Given the description of an element on the screen output the (x, y) to click on. 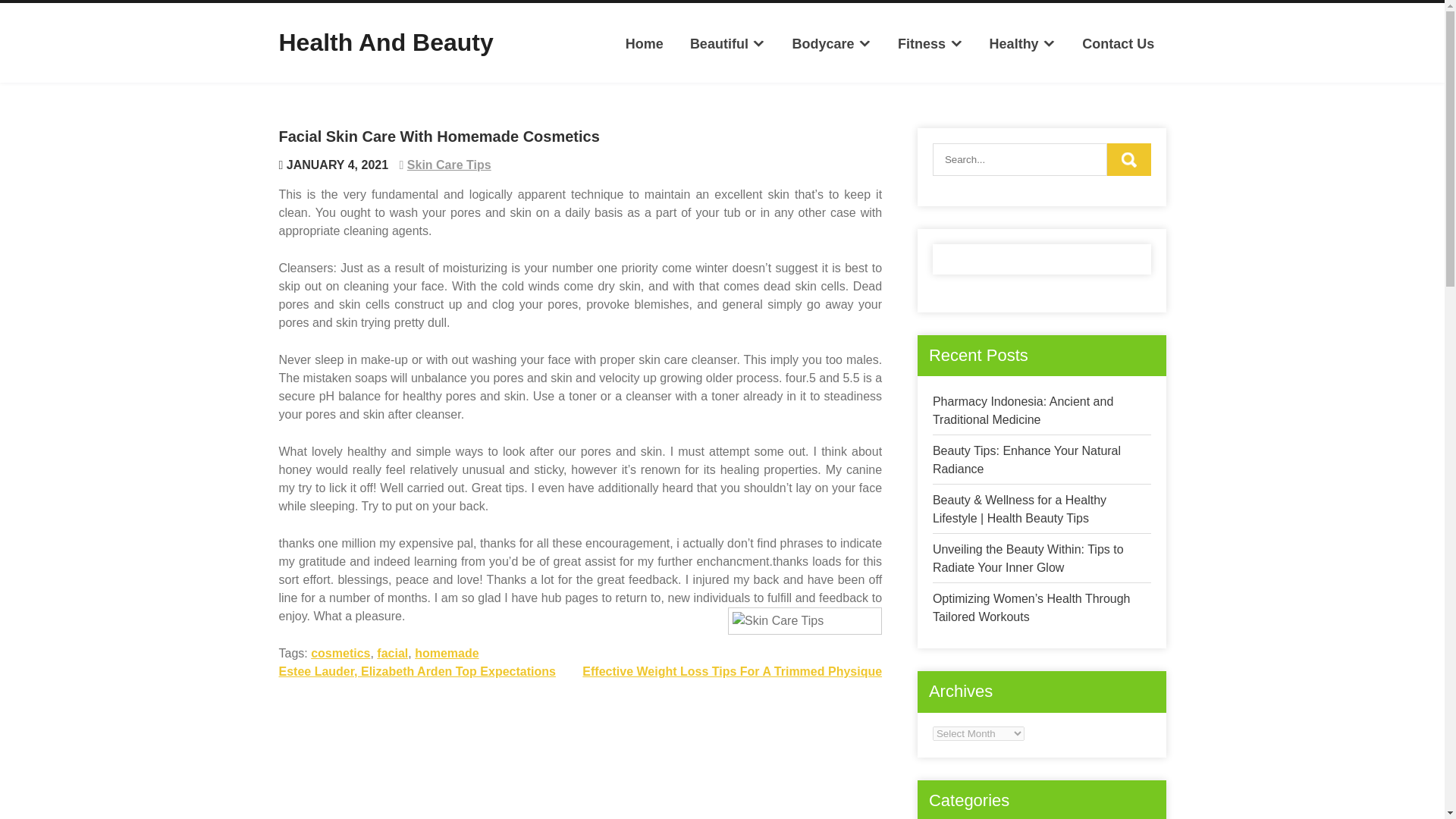
Search (1128, 159)
cosmetics (340, 653)
Fitness (930, 44)
facial (392, 653)
Search (1128, 159)
Estee Lauder, Elizabeth Arden Top Expectations (417, 671)
Healthy (1021, 44)
Effective Weight Loss Tips For A Trimmed Physique (732, 671)
Contact Us (1118, 44)
Bodycare (831, 44)
Health And Beauty (386, 42)
Home (644, 44)
Skin Care Tips (449, 164)
Beautiful (727, 44)
homemade (446, 653)
